Given the description of an element on the screen output the (x, y) to click on. 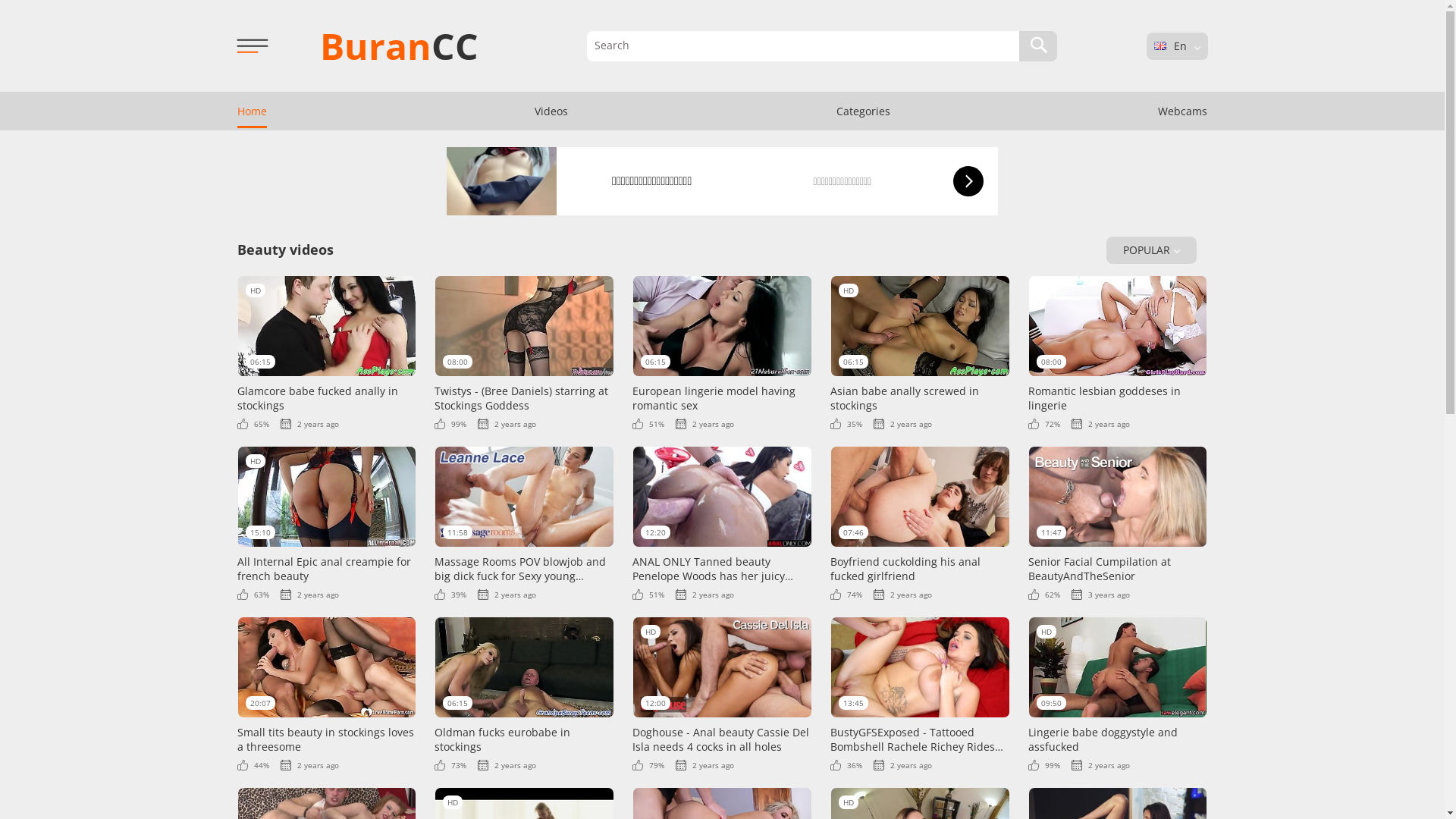
08:00
Romantic lesbian goddeses in lingerie
72%
2 years ago Element type: text (1118, 352)
En Element type: hover (1160, 45)
BuranCC Element type: text (399, 45)
Videos Element type: text (550, 111)
Home Element type: text (250, 111)
Categories Element type: text (862, 111)
06:15
Oldman fucks eurobabe in stockings
73%
2 years ago Element type: text (524, 693)
Webcams Element type: text (1182, 111)
